Given the description of an element on the screen output the (x, y) to click on. 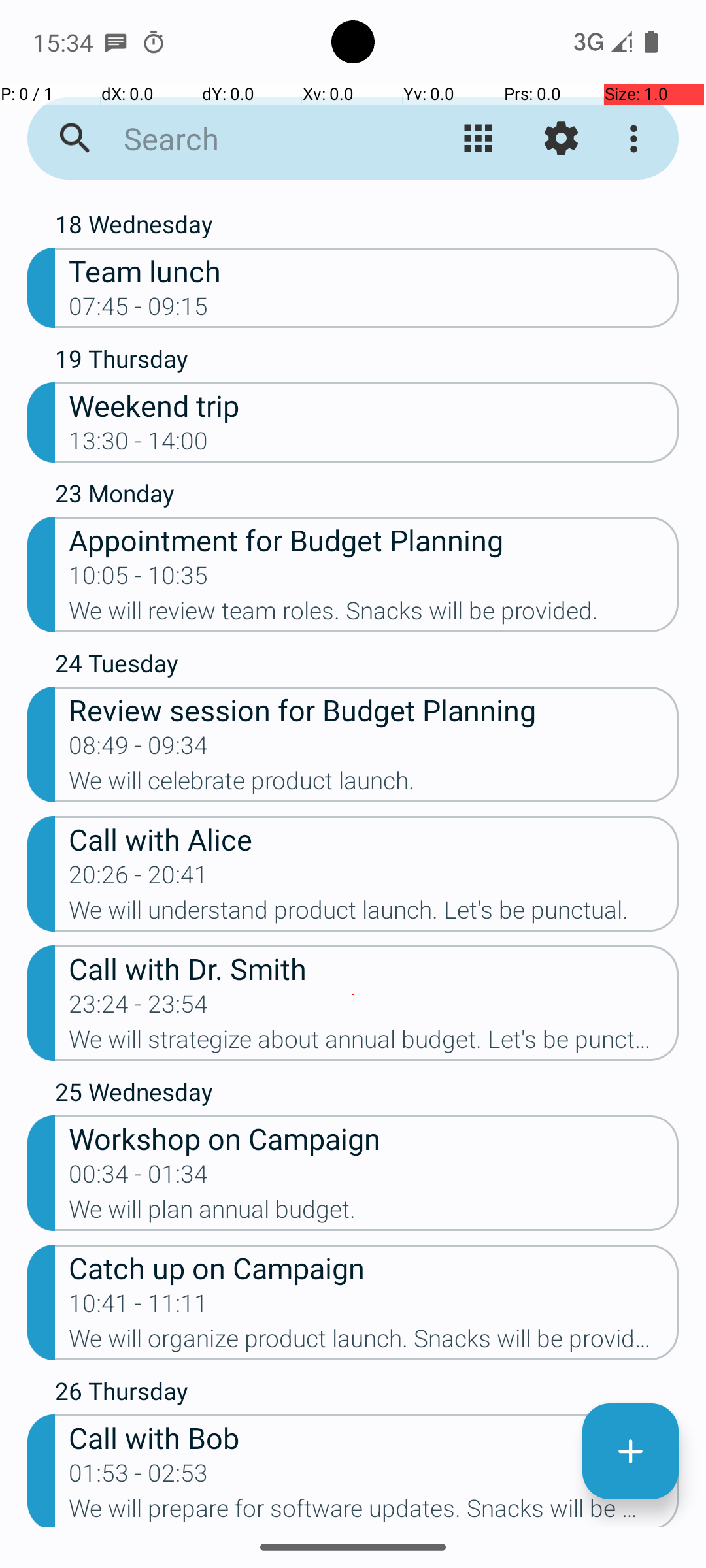
25 Wednesday Element type: android.widget.TextView (366, 1094)
26 Thursday Element type: android.widget.TextView (366, 1393)
Team lunch Element type: android.widget.TextView (373, 269)
07:45 - 09:15 Element type: android.widget.TextView (137, 309)
Weekend trip Element type: android.widget.TextView (373, 404)
13:30 - 14:00 Element type: android.widget.TextView (137, 444)
10:05 - 10:35 Element type: android.widget.TextView (137, 579)
We will review team roles. Snacks will be provided. Element type: android.widget.TextView (373, 614)
08:49 - 09:34 Element type: android.widget.TextView (137, 749)
We will celebrate product launch. Element type: android.widget.TextView (373, 784)
20:26 - 20:41 Element type: android.widget.TextView (137, 878)
We will understand product launch. Let's be punctual. Element type: android.widget.TextView (373, 913)
23:24 - 23:54 Element type: android.widget.TextView (137, 1007)
We will strategize about annual budget. Let's be punctual. Element type: android.widget.TextView (373, 1043)
00:34 - 01:34 Element type: android.widget.TextView (137, 1177)
10:41 - 11:11 Element type: android.widget.TextView (137, 1306)
We will organize product launch. Snacks will be provided. Element type: android.widget.TextView (373, 1342)
01:53 - 02:53 Element type: android.widget.TextView (137, 1476)
We will prepare for software updates. Snacks will be provided. Element type: android.widget.TextView (373, 1510)
